Given the description of an element on the screen output the (x, y) to click on. 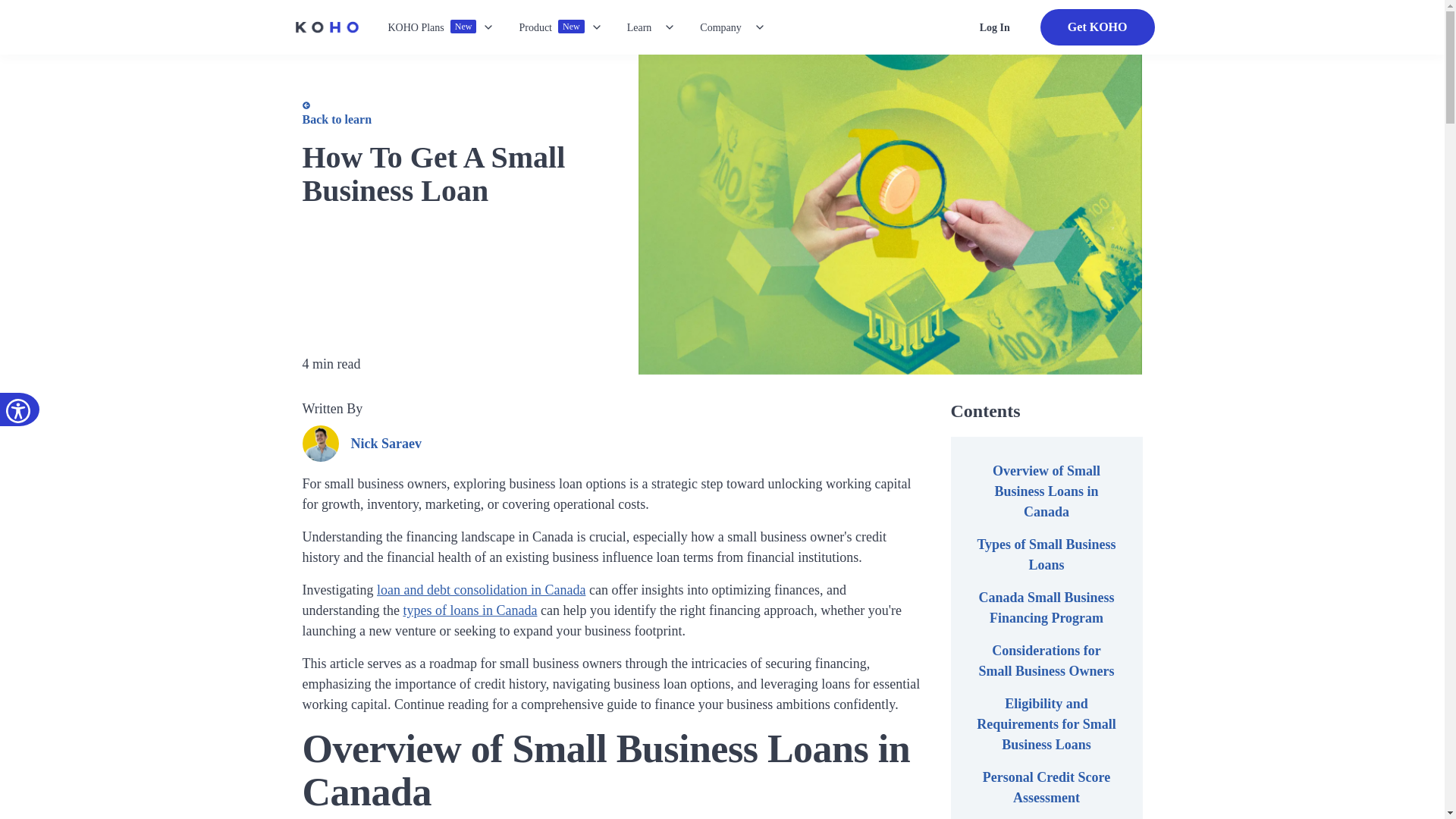
Back to learn (448, 115)
Get KOHO (1097, 27)
Log In (560, 27)
Learn (440, 27)
Company (994, 27)
